Given the description of an element on the screen output the (x, y) to click on. 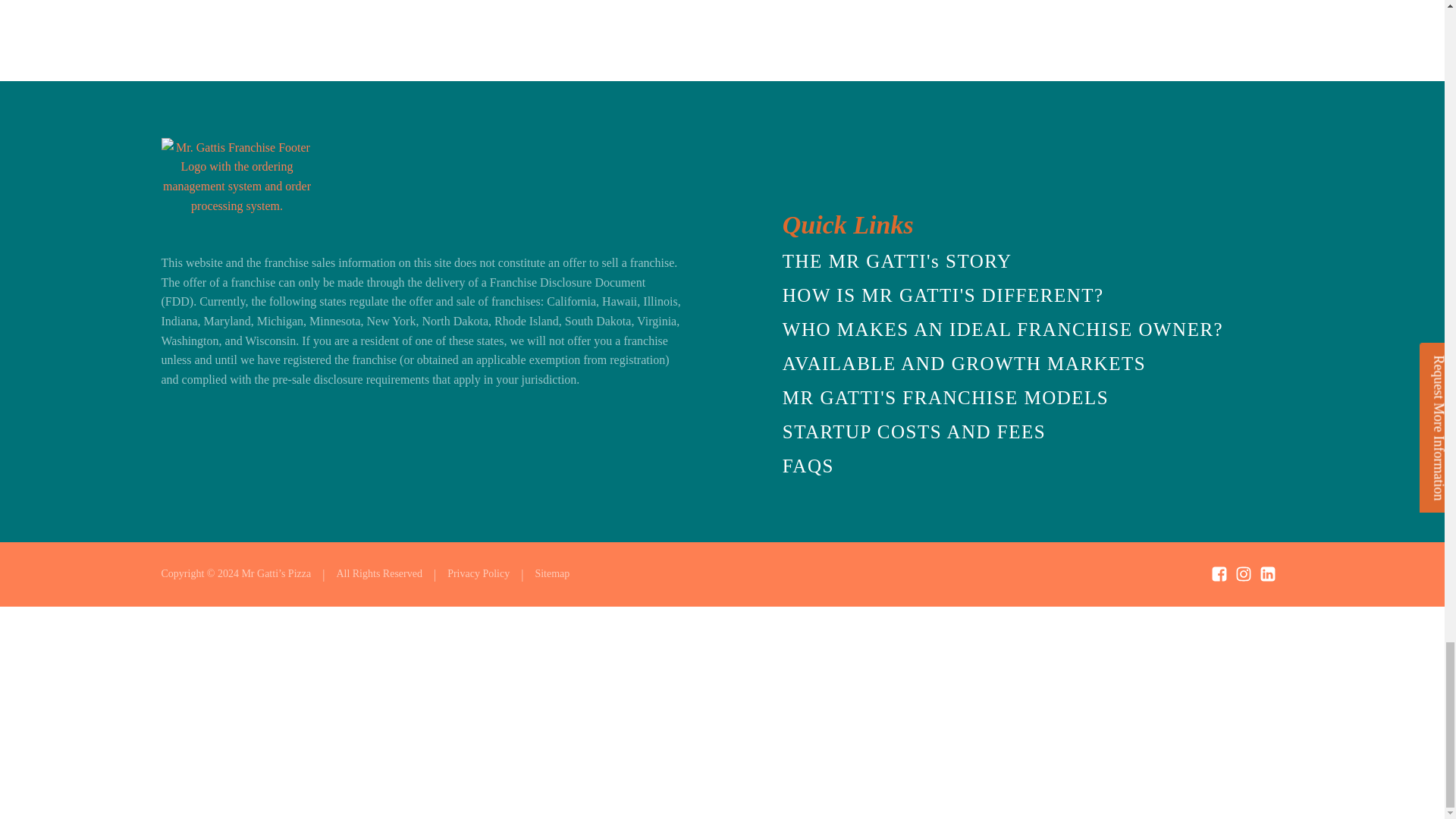
WHO MAKES AN IDEAL FRANCHISE OWNER? (1003, 329)
THE MR GATTI's STORY (897, 261)
HOW IS MR GATTI'S DIFFERENT? (943, 295)
